Given the description of an element on the screen output the (x, y) to click on. 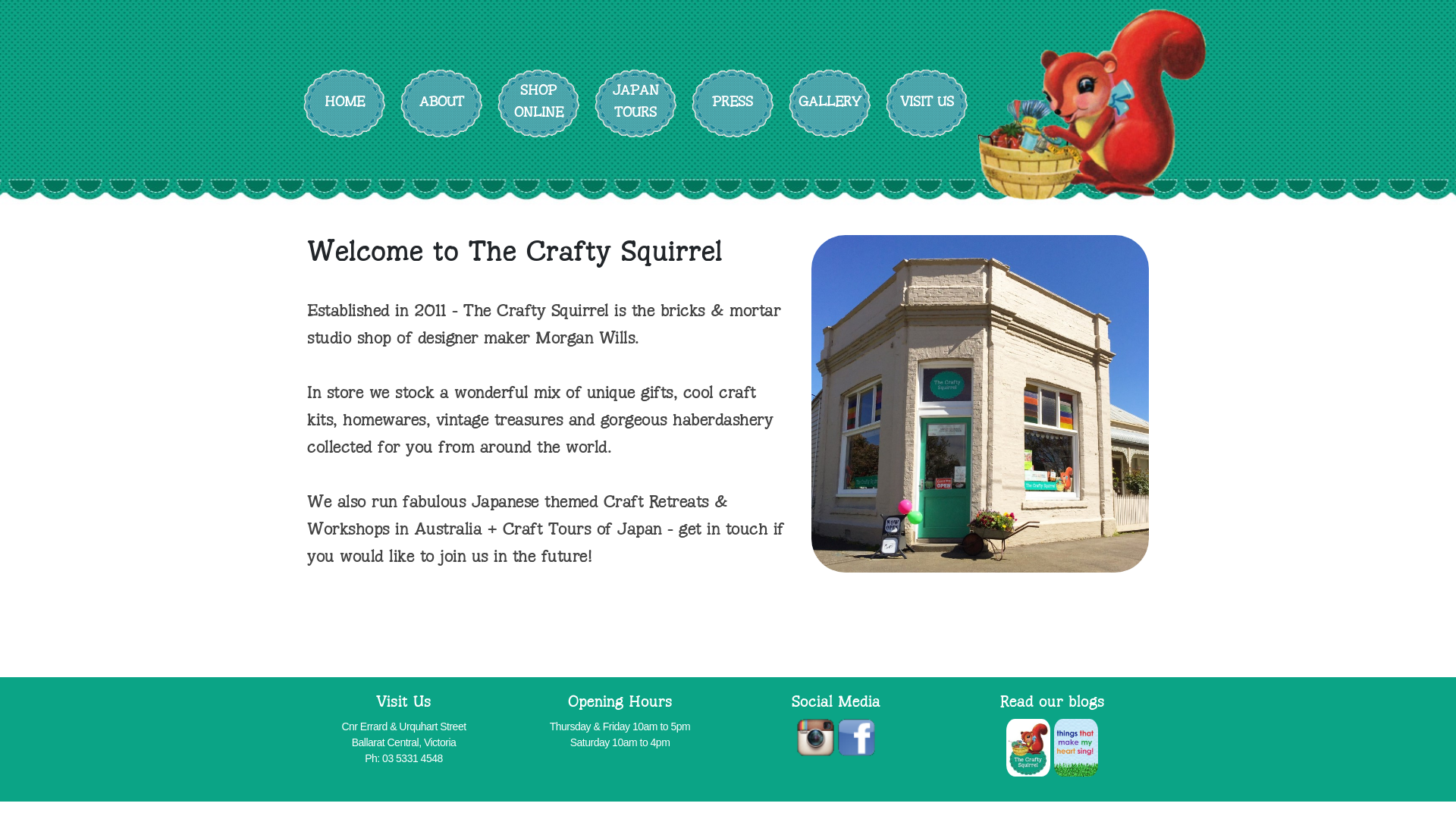
SHOP
ONLINE Element type: text (537, 103)
ABOUT Element type: text (440, 103)
HOME Element type: text (343, 103)
GALLERY Element type: text (829, 103)
JAPAN
TOURS Element type: text (635, 103)
Cnr Errard & Urquhart Street
Ballarat Central, Victoria Element type: text (403, 734)
PRESS Element type: text (732, 103)
VISIT US Element type: text (926, 103)
